Given the description of an element on the screen output the (x, y) to click on. 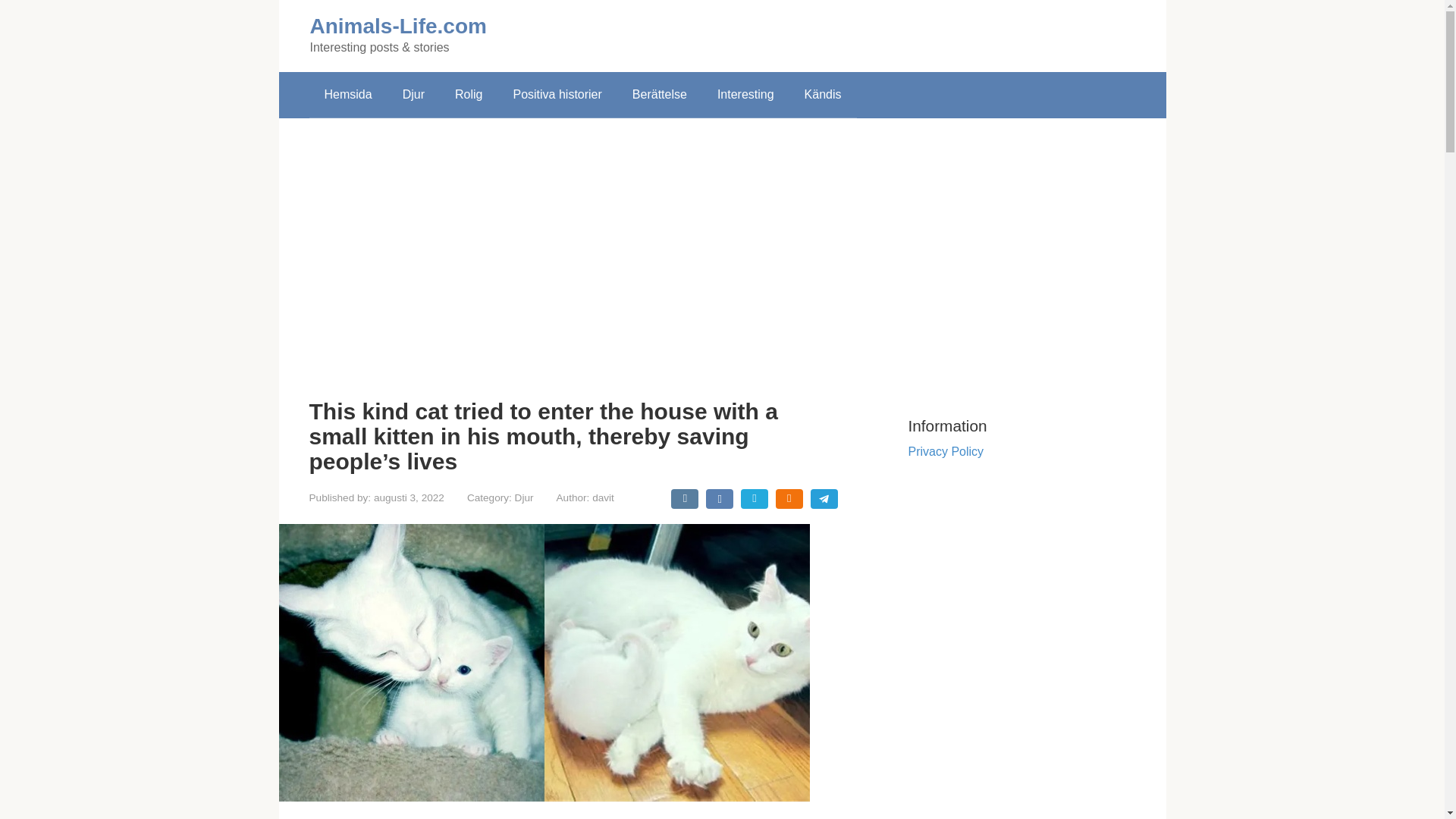
Interesting (745, 94)
Rolig (468, 94)
Hemsida (347, 94)
Positiva historier (556, 94)
Djur (524, 497)
Djur (413, 94)
Animals-Life.com (397, 25)
